Given the description of an element on the screen output the (x, y) to click on. 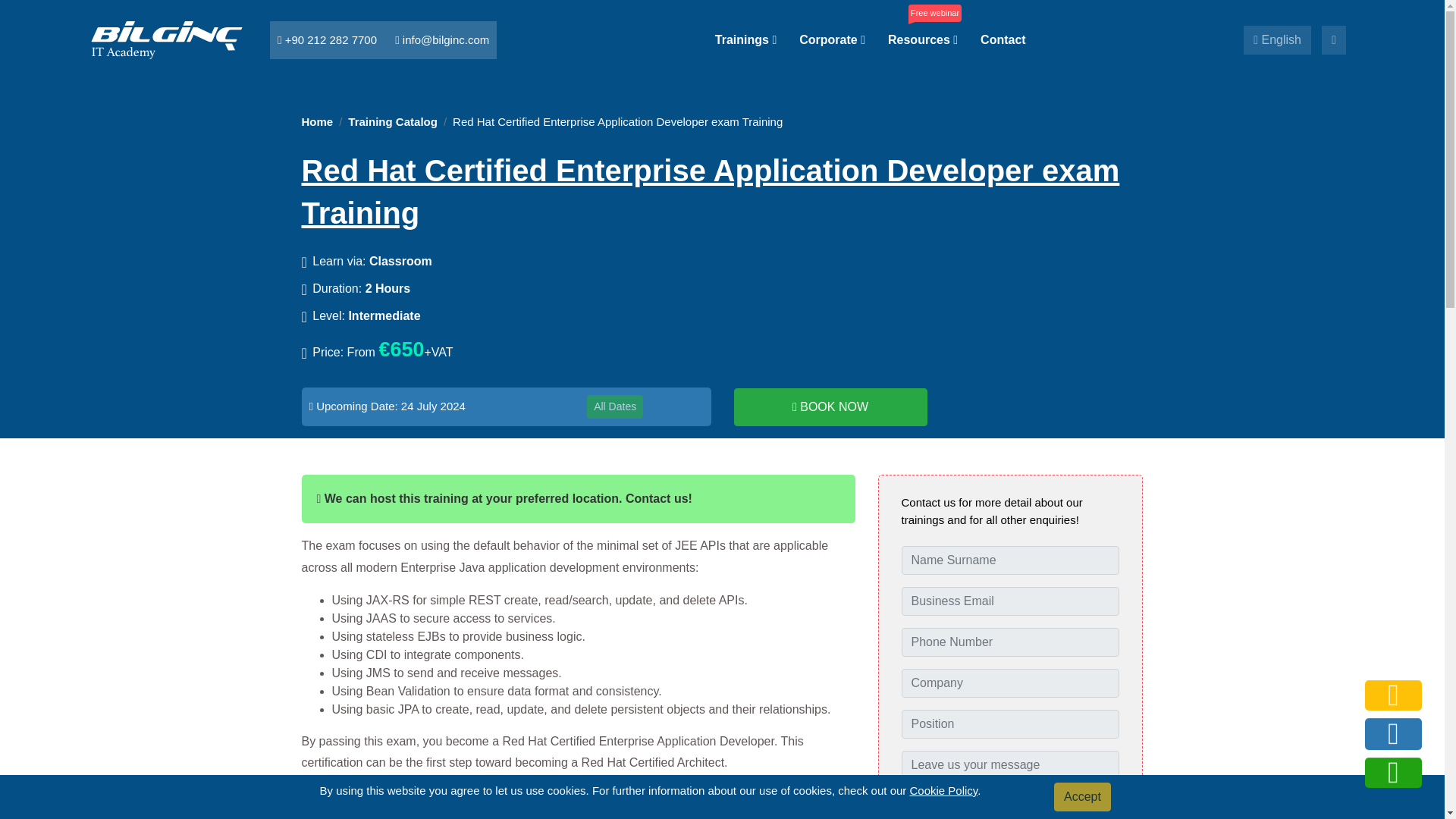
Corporate (831, 40)
Trainings (745, 40)
Resources (923, 40)
